Given the description of an element on the screen output the (x, y) to click on. 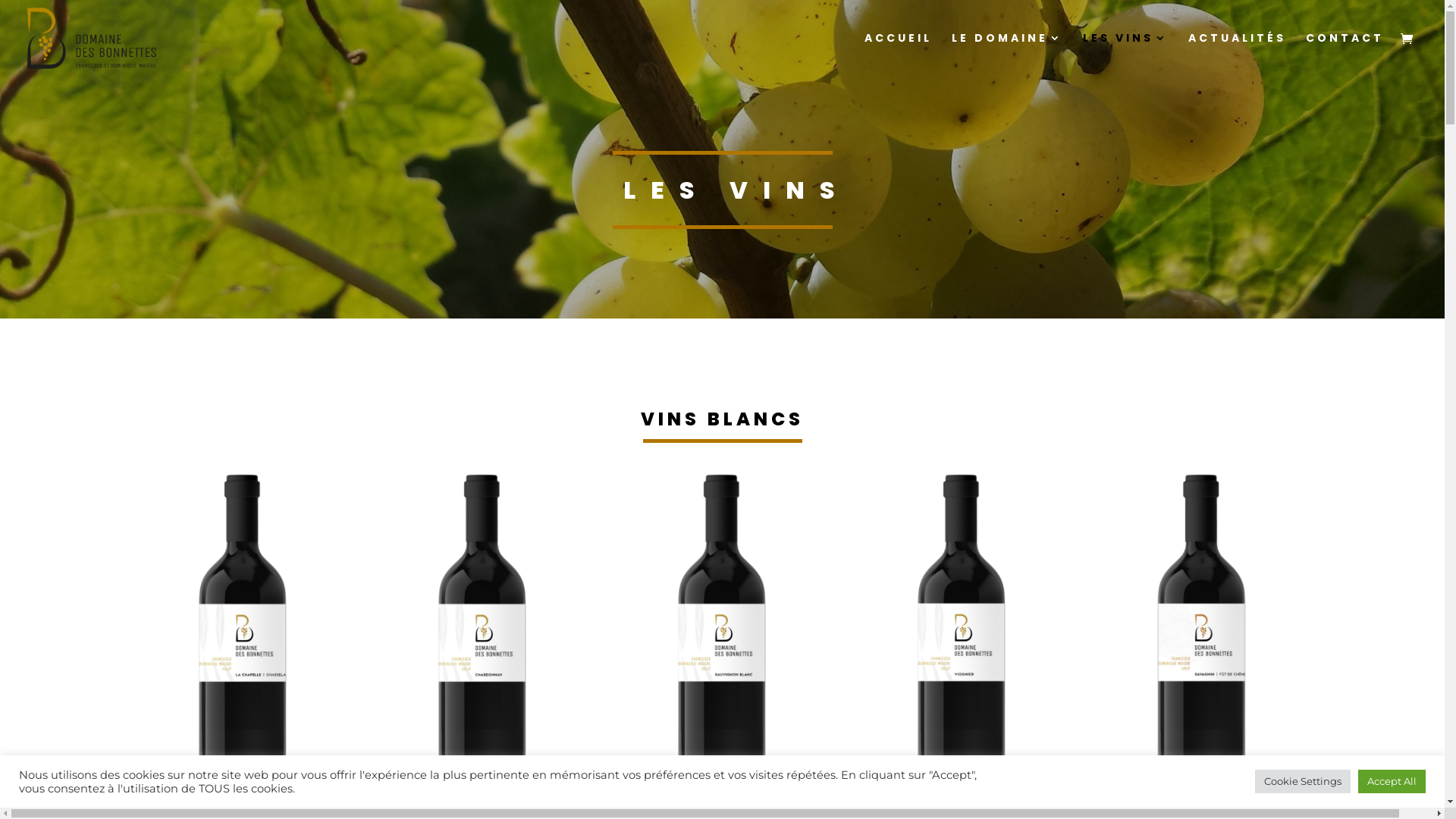
Cookie Settings Element type: text (1302, 781)
CONTACT Element type: text (1344, 53)
Accept All Element type: text (1391, 781)
ACCUEIL Element type: text (897, 53)
LE DOMAINE Element type: text (1007, 53)
LES VINS Element type: text (1125, 53)
